Given the description of an element on the screen output the (x, y) to click on. 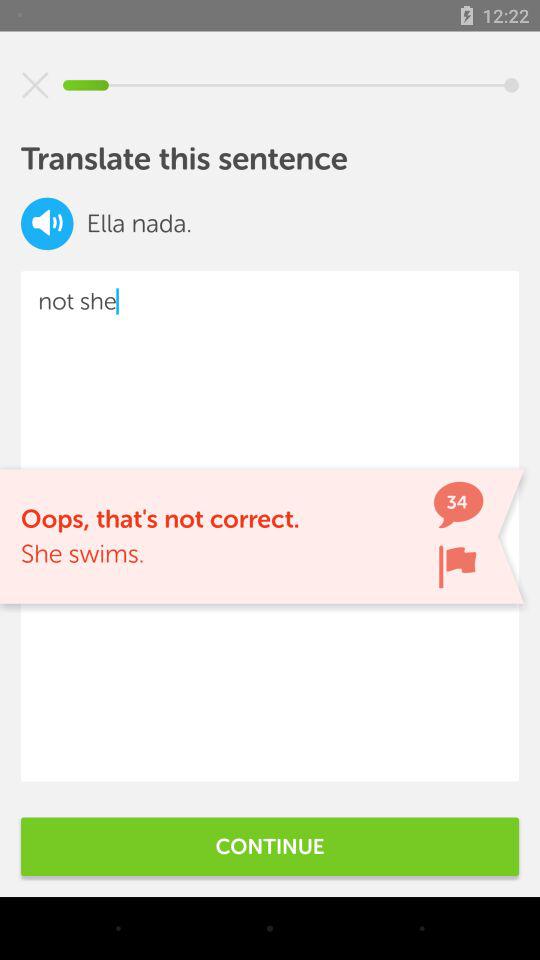
choose item to the left of ella icon (47, 223)
